Given the description of an element on the screen output the (x, y) to click on. 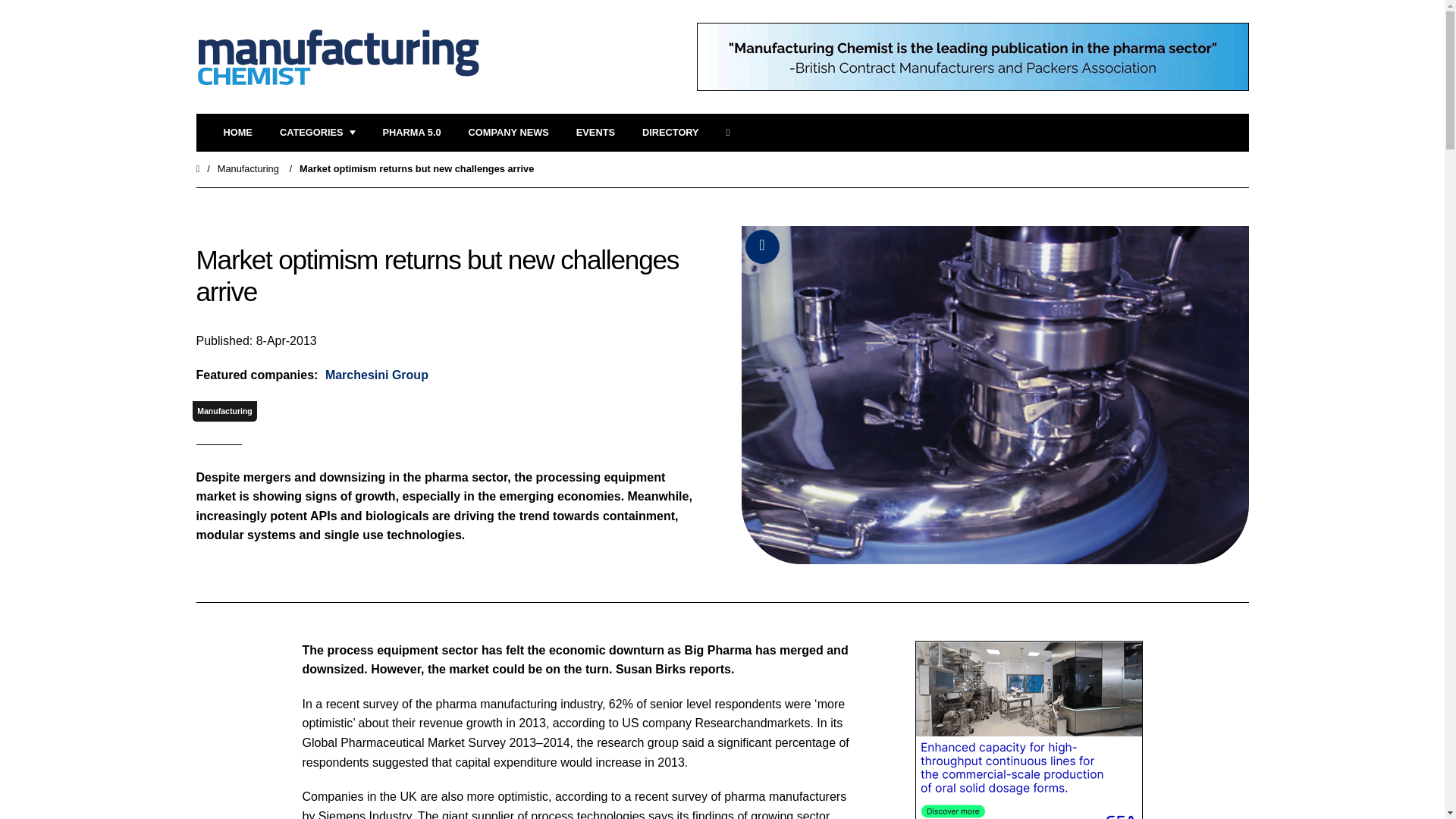
Manufacturing (247, 168)
Directory (670, 133)
Manufacturing (224, 411)
EVENTS (595, 133)
SEARCH (732, 133)
DIRECTORY (670, 133)
COMPANY NEWS (508, 133)
PHARMA 5.0 (411, 133)
Pharma 5.0 (411, 133)
CATEGORIES (317, 133)
Marchesini Group (374, 374)
HOME (236, 133)
